Given the description of an element on the screen output the (x, y) to click on. 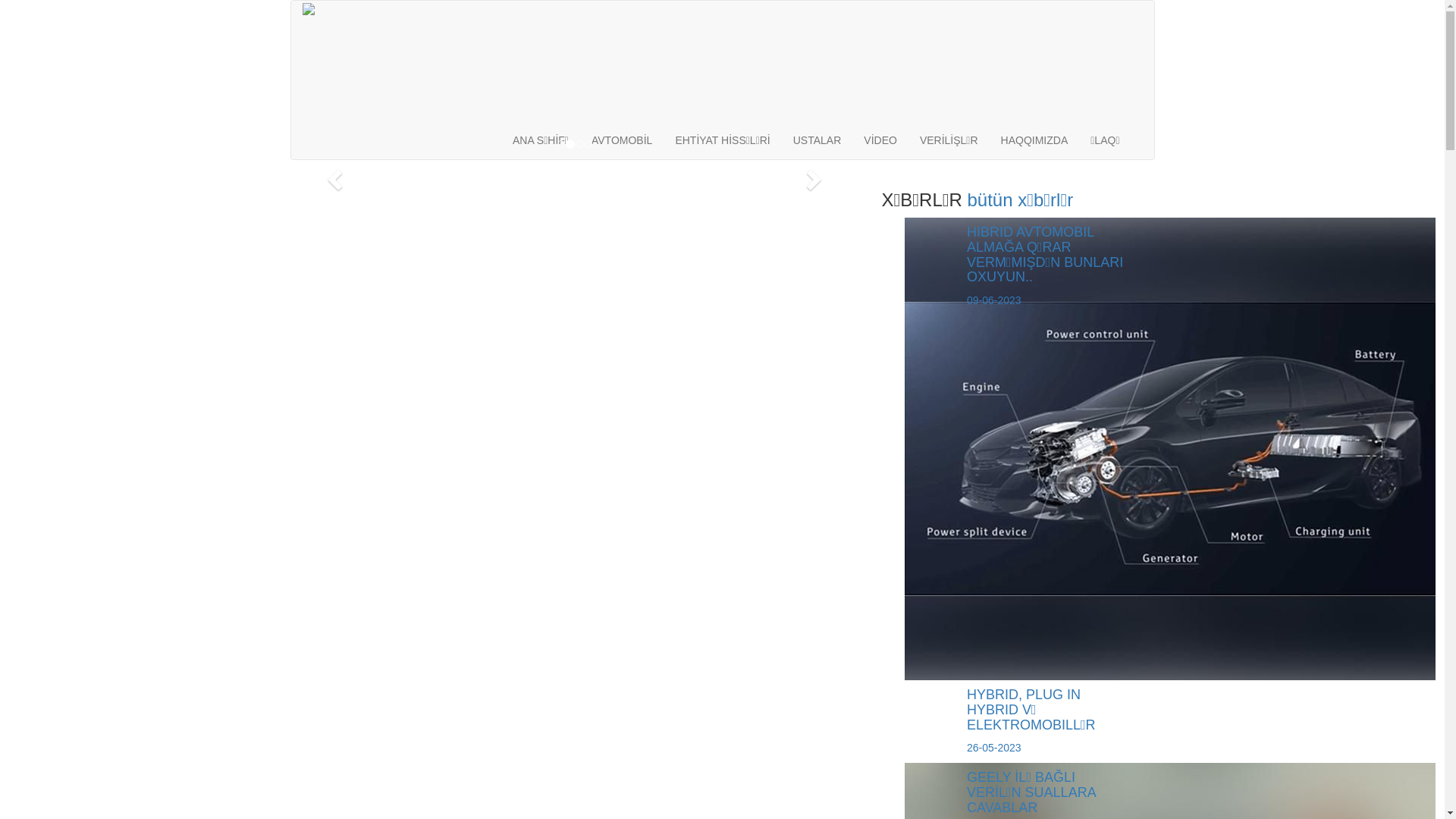
USTALAR Element type: text (817, 140)
HAQQIMIZDA Element type: text (1034, 140)
